Given the description of an element on the screen output the (x, y) to click on. 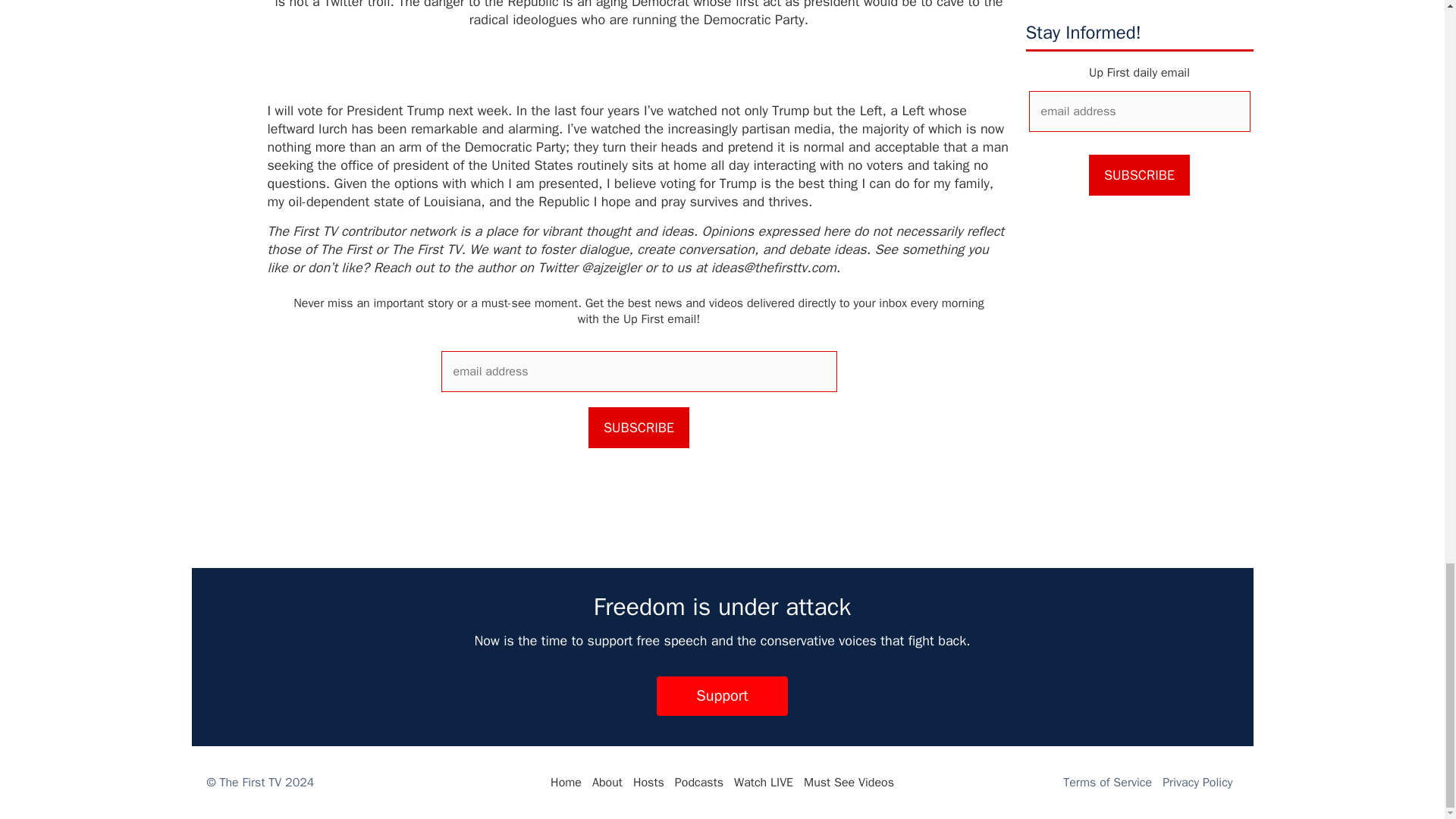
Subscribe (638, 427)
Subscribe (638, 427)
Subscribe (1139, 174)
Subscribe (1139, 174)
